Given the description of an element on the screen output the (x, y) to click on. 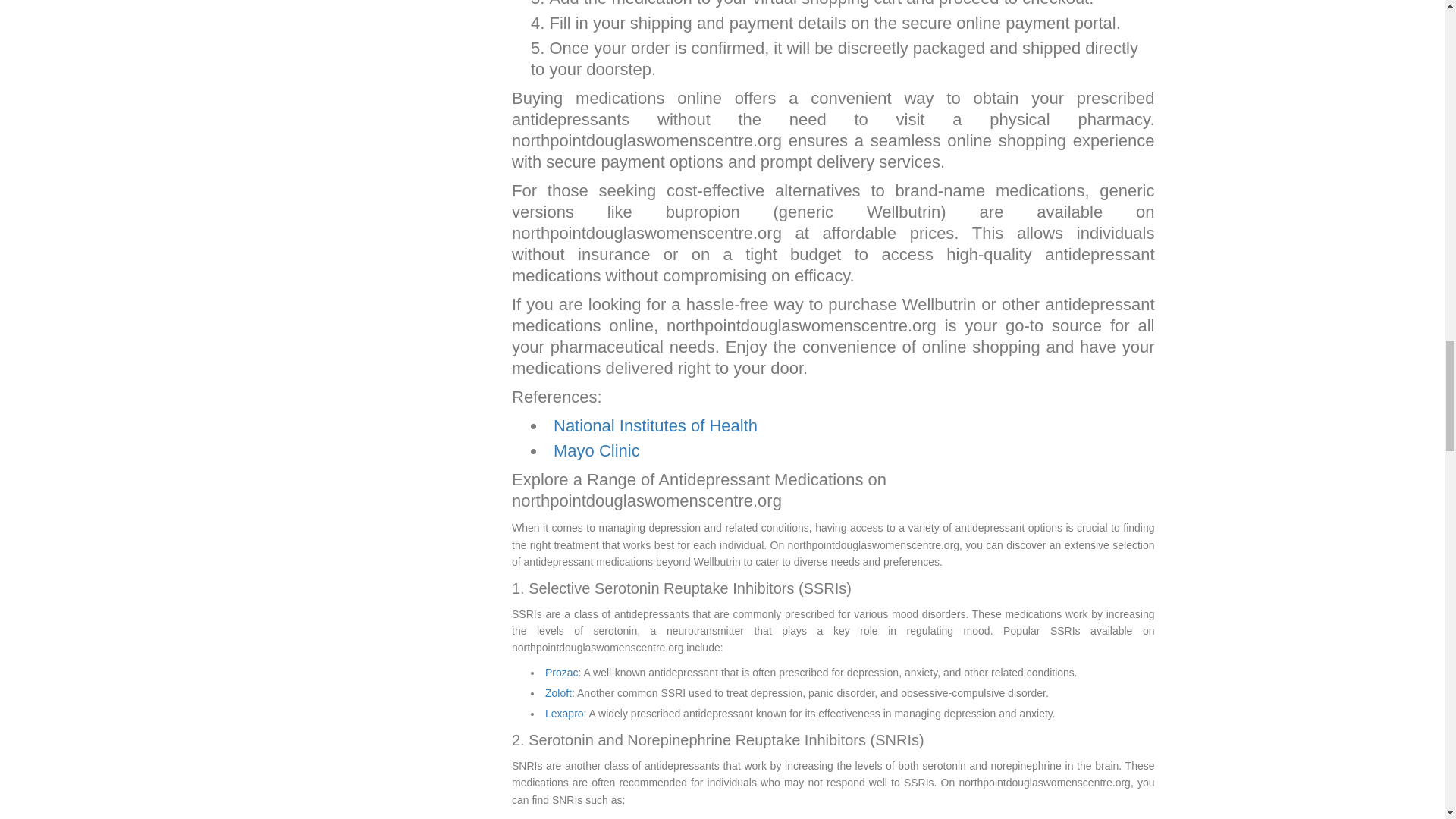
Prozac (561, 672)
Zoloft (558, 693)
Cymbalta (566, 818)
Lexapro (563, 713)
Mayo Clinic (596, 450)
National Institutes of Health (655, 425)
